Given the description of an element on the screen output the (x, y) to click on. 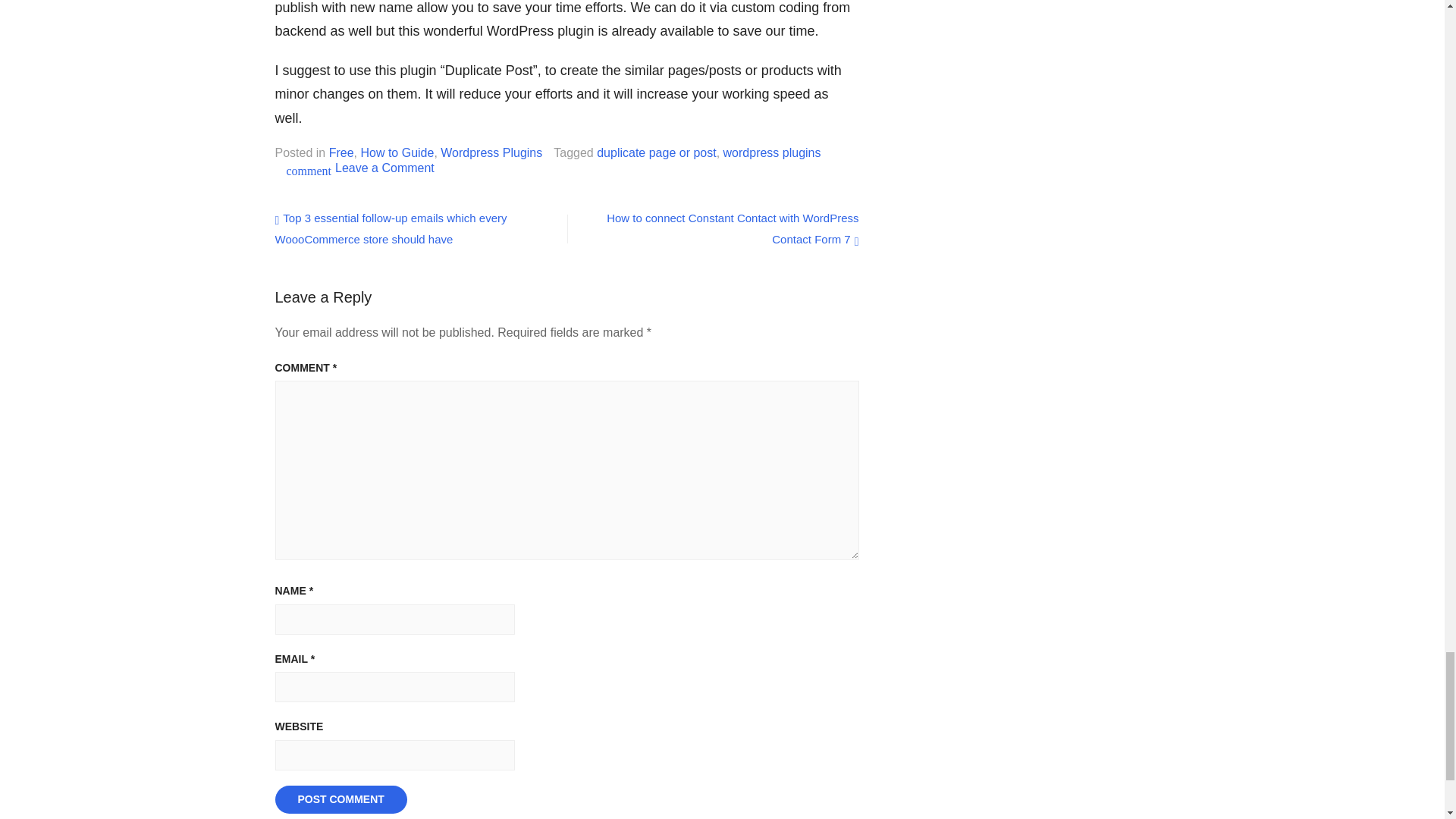
Free (341, 152)
wordpress plugins (772, 152)
Post Comment (340, 799)
Wordpress Plugins (491, 152)
How to Guide (396, 152)
duplicate page or post (656, 152)
Post Comment (340, 799)
